Given the description of an element on the screen output the (x, y) to click on. 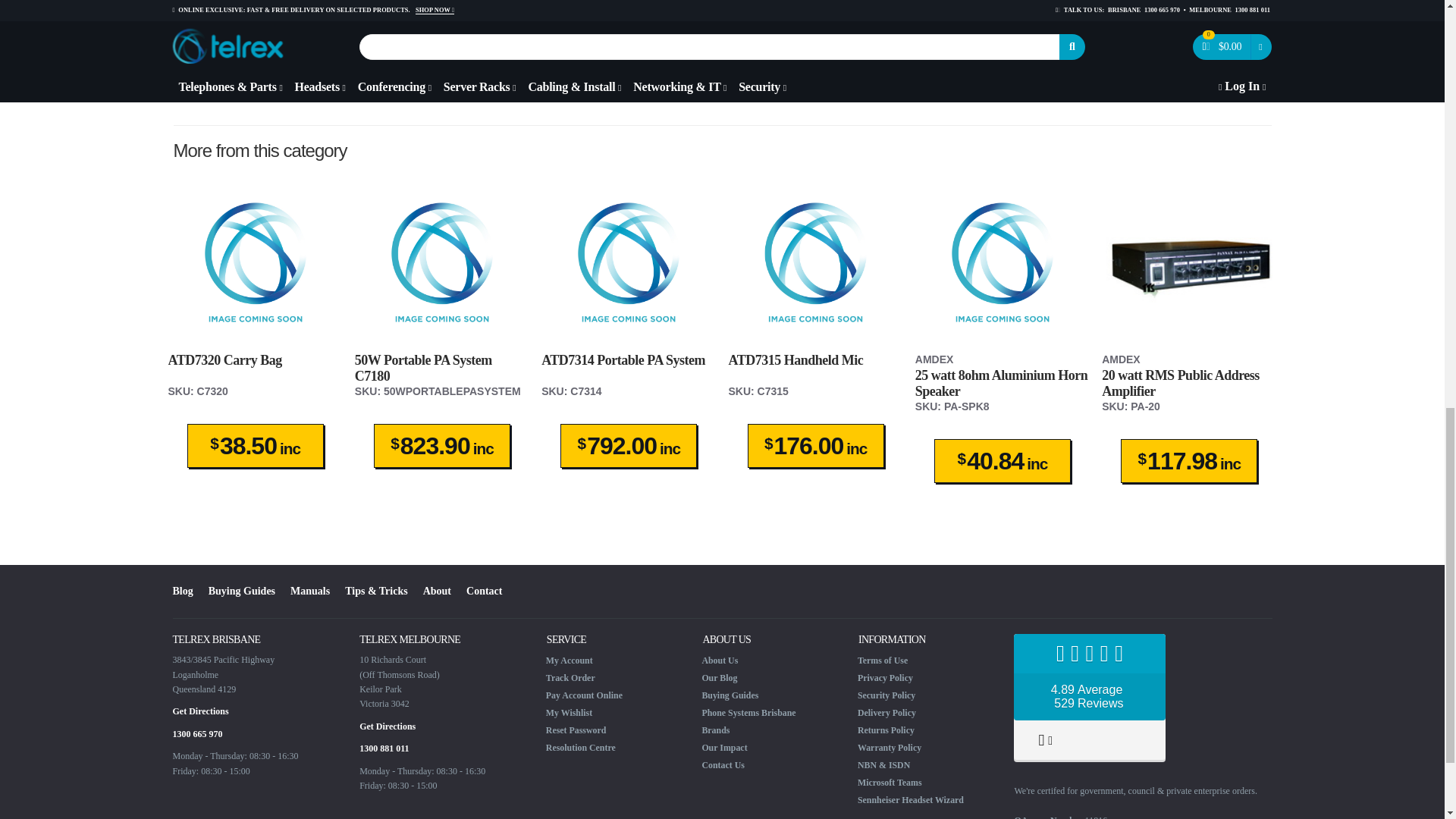
Reviews Badge Widget (1089, 698)
